Given the description of an element on the screen output the (x, y) to click on. 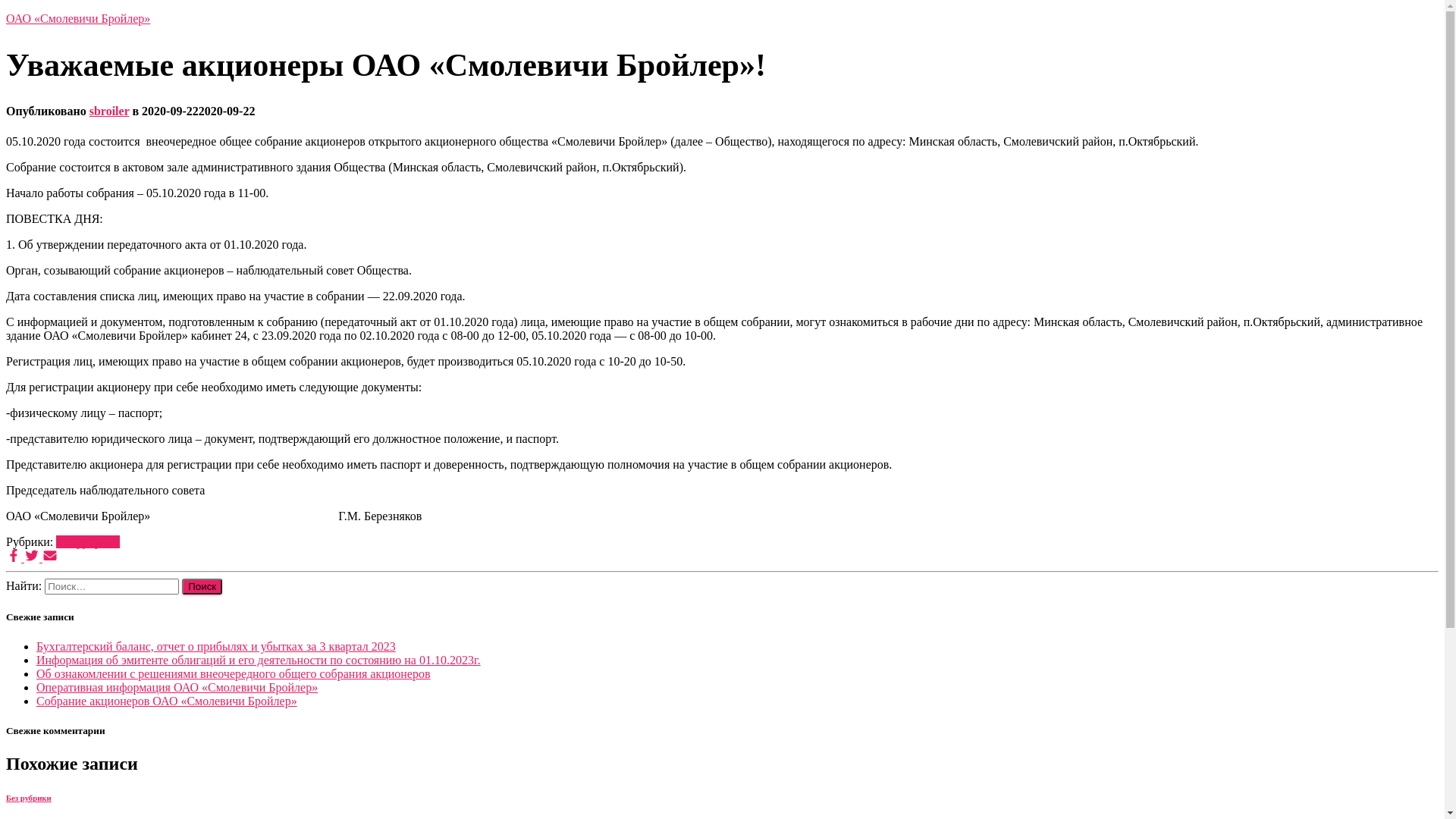
sbroiler Element type: text (109, 110)
